Given the description of an element on the screen output the (x, y) to click on. 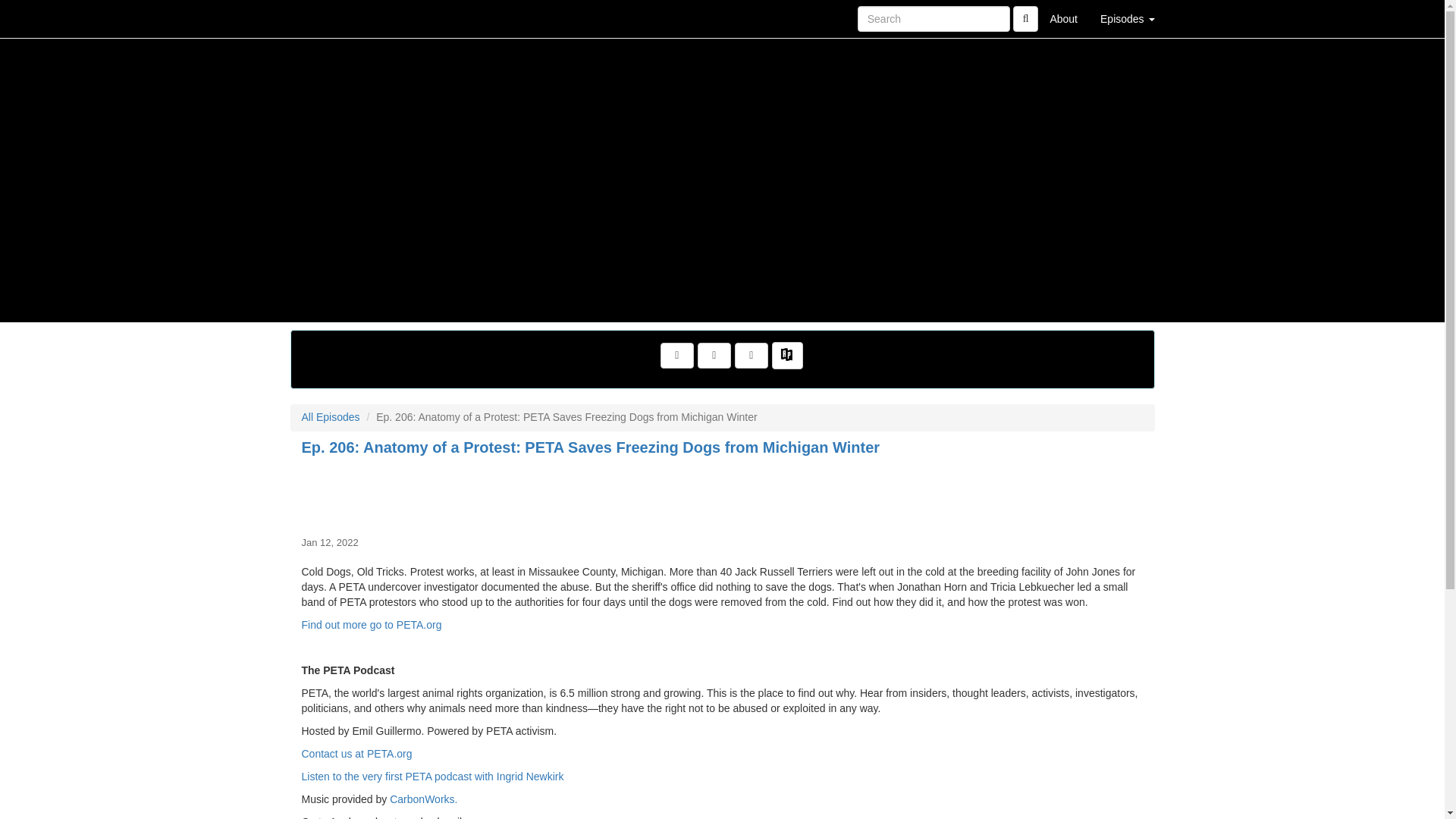
Episodes (1127, 18)
About (1063, 18)
Home Page (320, 18)
